Given the description of an element on the screen output the (x, y) to click on. 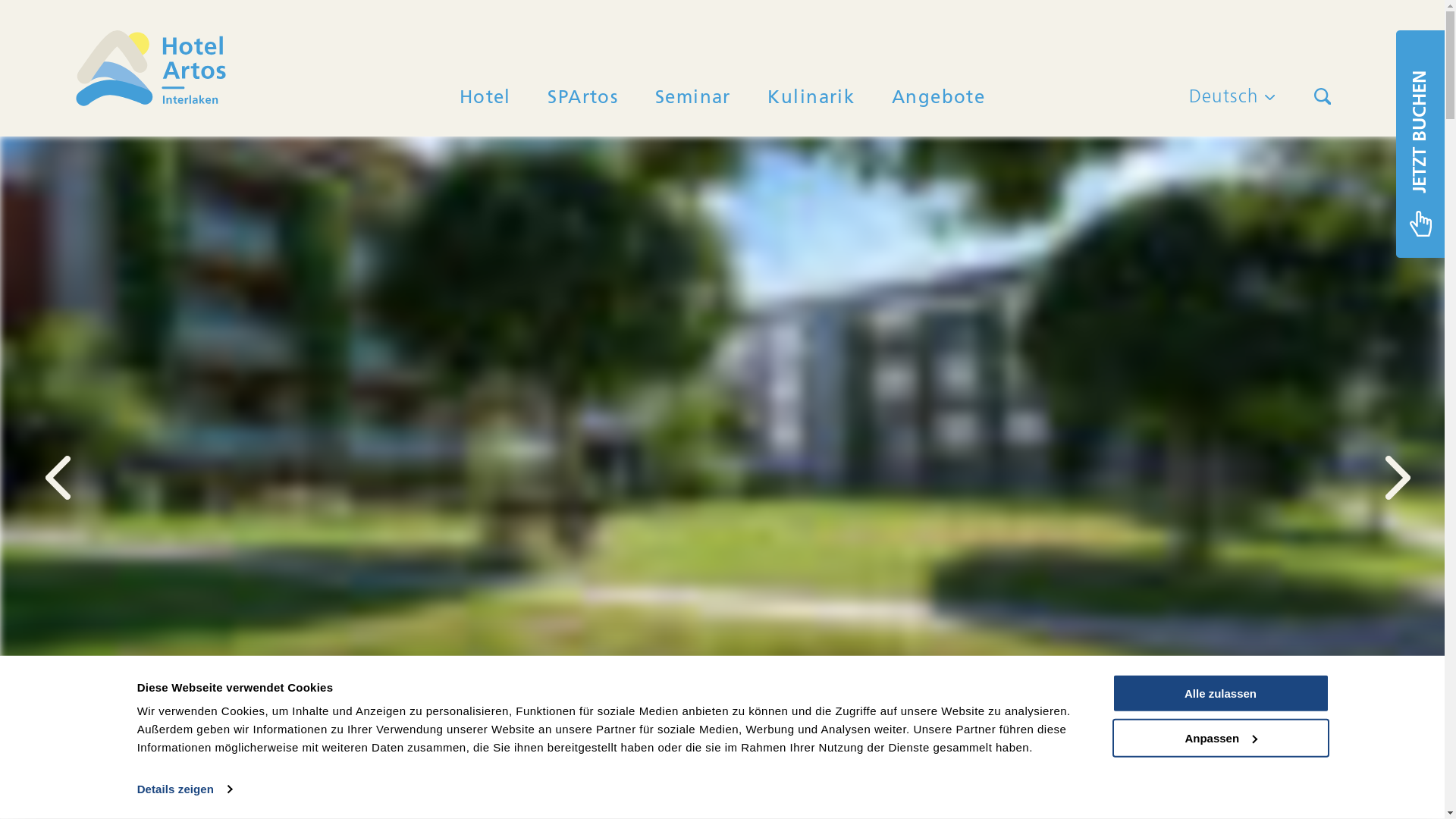
Details zeigen Element type: text (184, 789)
Anpassen Element type: text (1219, 737)
Alle zulassen Element type: text (1219, 693)
Kulinarik Element type: text (811, 96)
Seminar Element type: text (692, 96)
SPArtos Element type: text (582, 96)
Angebote Element type: text (938, 96)
Hotel Element type: text (485, 96)
